Given the description of an element on the screen output the (x, y) to click on. 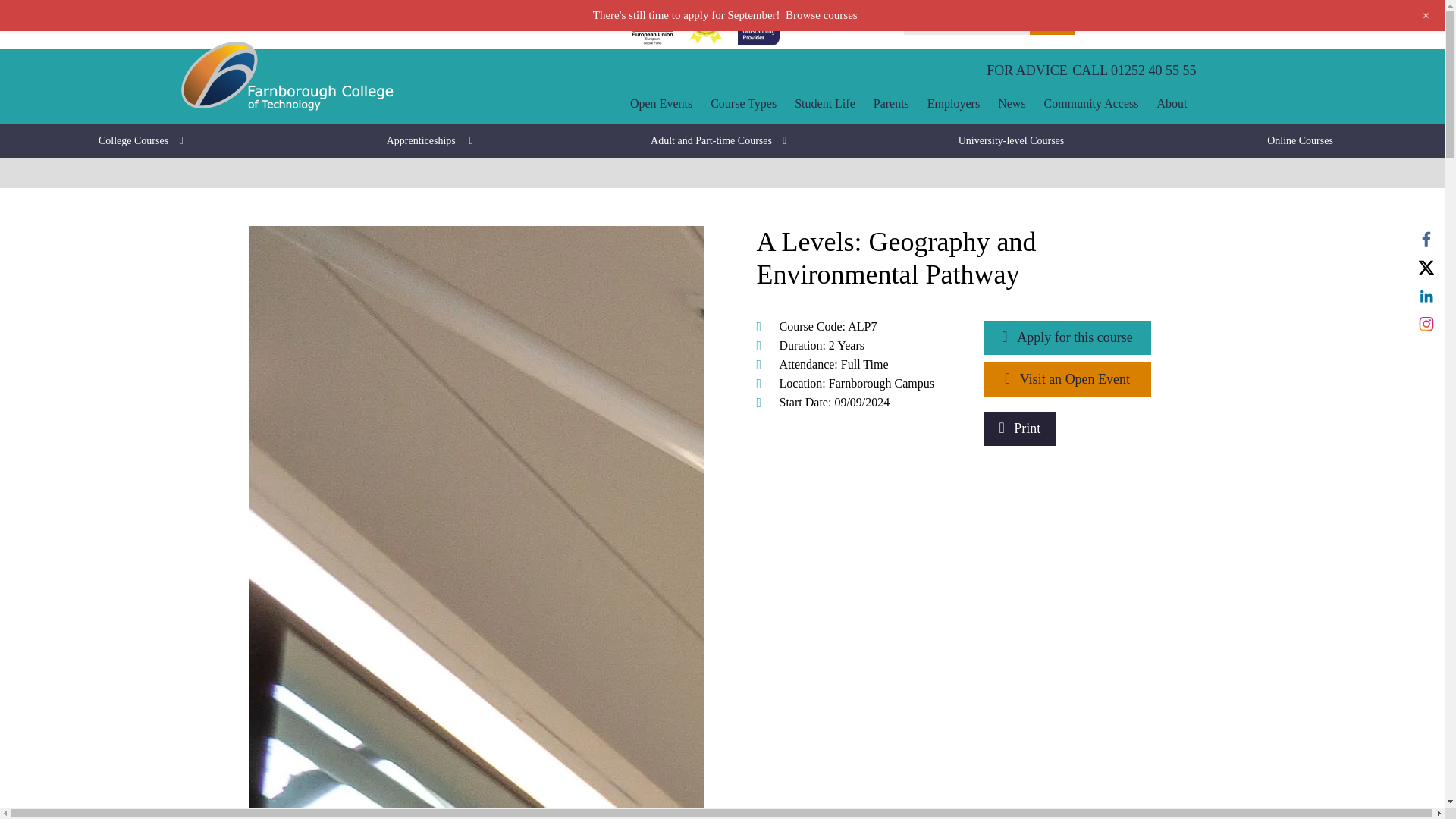
Go (1052, 24)
Course Basket (1139, 13)
INTRANET (854, 24)
Course Types (743, 103)
Student Life (825, 103)
Open Events (661, 103)
